Given the description of an element on the screen output the (x, y) to click on. 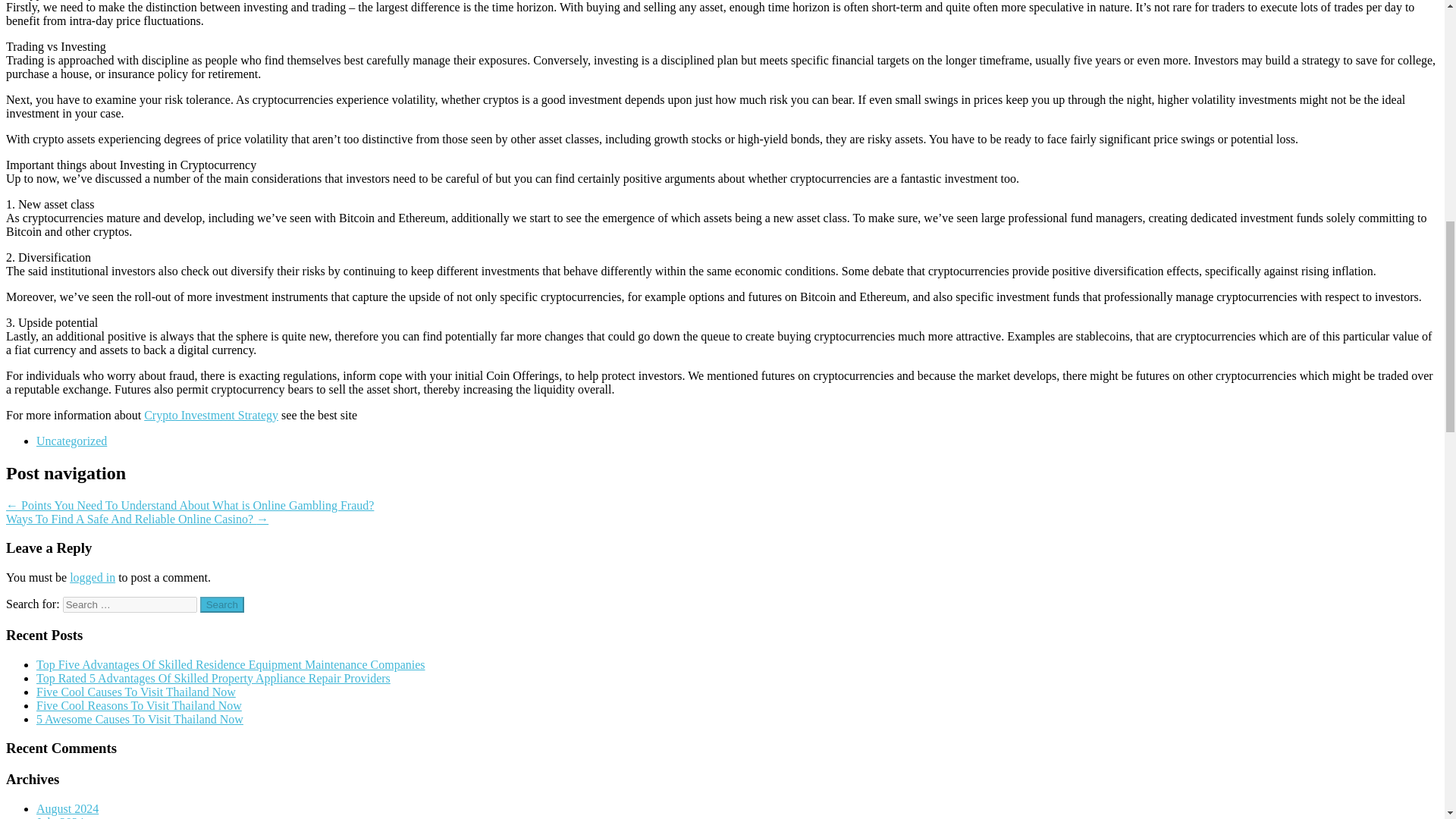
Crypto Investment Strategy (211, 414)
August 2024 (67, 808)
Search (222, 604)
Five Cool Causes To Visit Thailand Now (135, 691)
Search (222, 604)
Search (222, 604)
Uncategorized (71, 440)
Five Cool Reasons To Visit Thailand Now (138, 705)
